Given the description of an element on the screen output the (x, y) to click on. 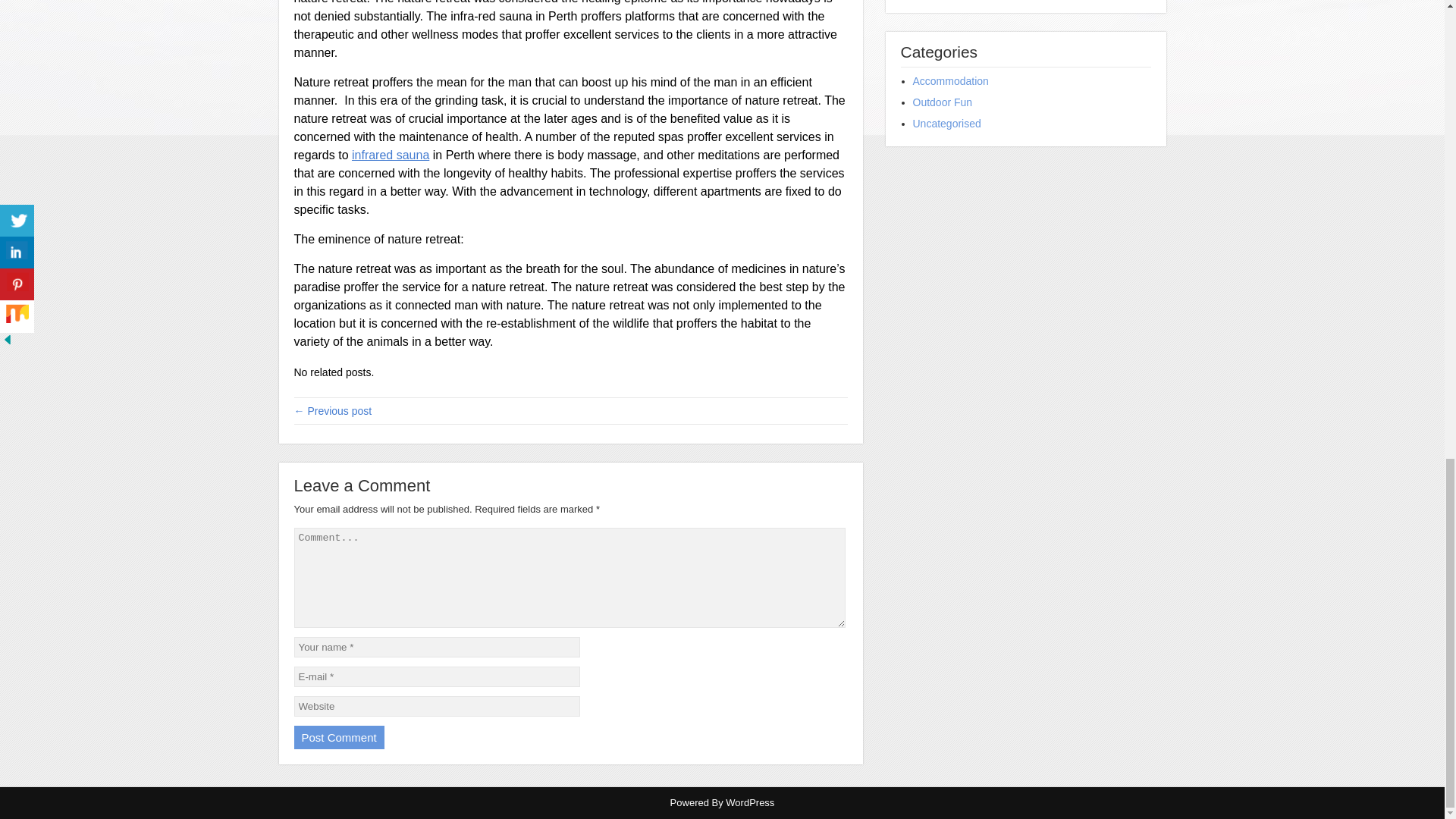
Post Comment (339, 737)
Uncategorised (946, 123)
infrared sauna (390, 154)
All About Rooms Categories And Hotel In Mansfield (333, 410)
infrared sauna (390, 154)
Accommodation (950, 80)
Outdoor Fun (942, 102)
Post Comment (339, 737)
Accommodation (950, 80)
